Given the description of an element on the screen output the (x, y) to click on. 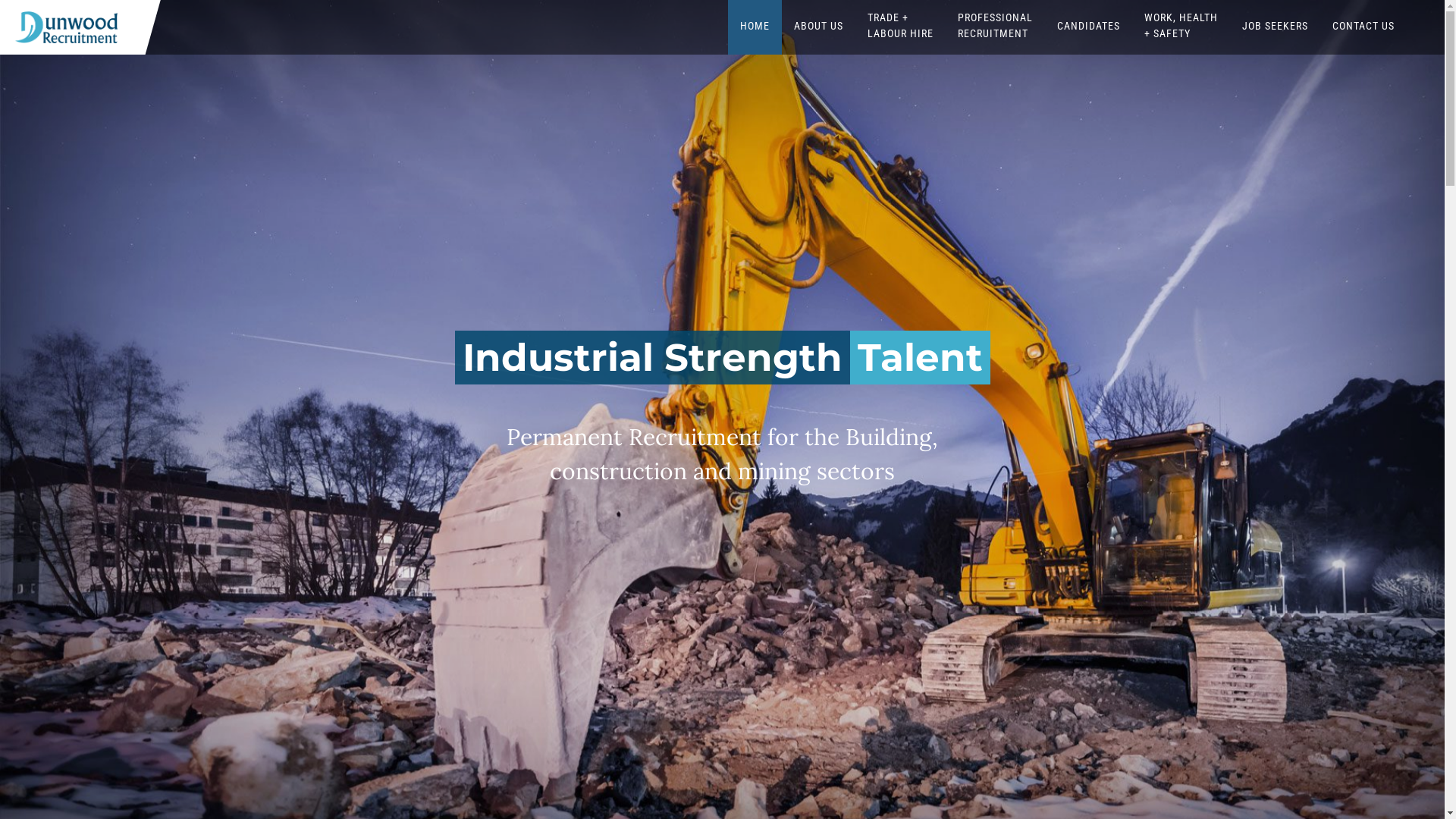
CANDIDATES Element type: text (1088, 25)
ABOUT US Element type: text (818, 25)
WORK, HEALTH
+ SAFETY Element type: text (1181, 25)
TRADE +
LABOUR HIRE Element type: text (900, 25)
CONTACT US Element type: text (1363, 25)
JOB SEEKERS Element type: text (1275, 25)
HOME Element type: text (754, 25)
PROFESSIONAL
RECRUITMENT Element type: text (994, 25)
